Given the description of an element on the screen output the (x, y) to click on. 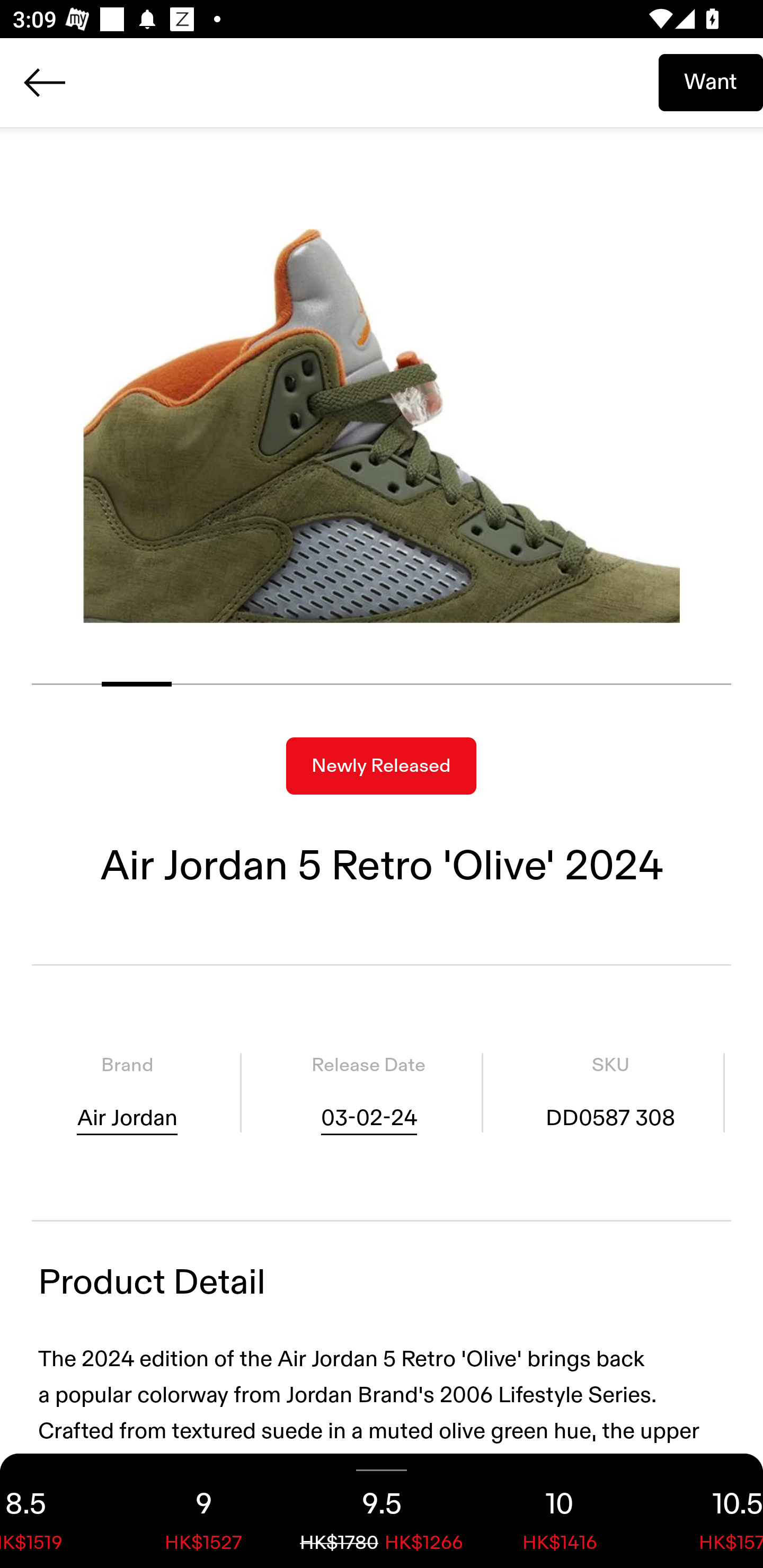
Want (710, 82)
Newly Released (381, 765)
Brand Air Jordan (126, 1092)
Release Date 03-02-24 (368, 1092)
SKU DD0587 308 (609, 1092)
8.5 HK$1519 (57, 1510)
9 HK$1527 (203, 1510)
9.5 HK$1780 HK$1266 (381, 1510)
10 HK$1416 (559, 1510)
10.5 HK$1574 (705, 1510)
